Given the description of an element on the screen output the (x, y) to click on. 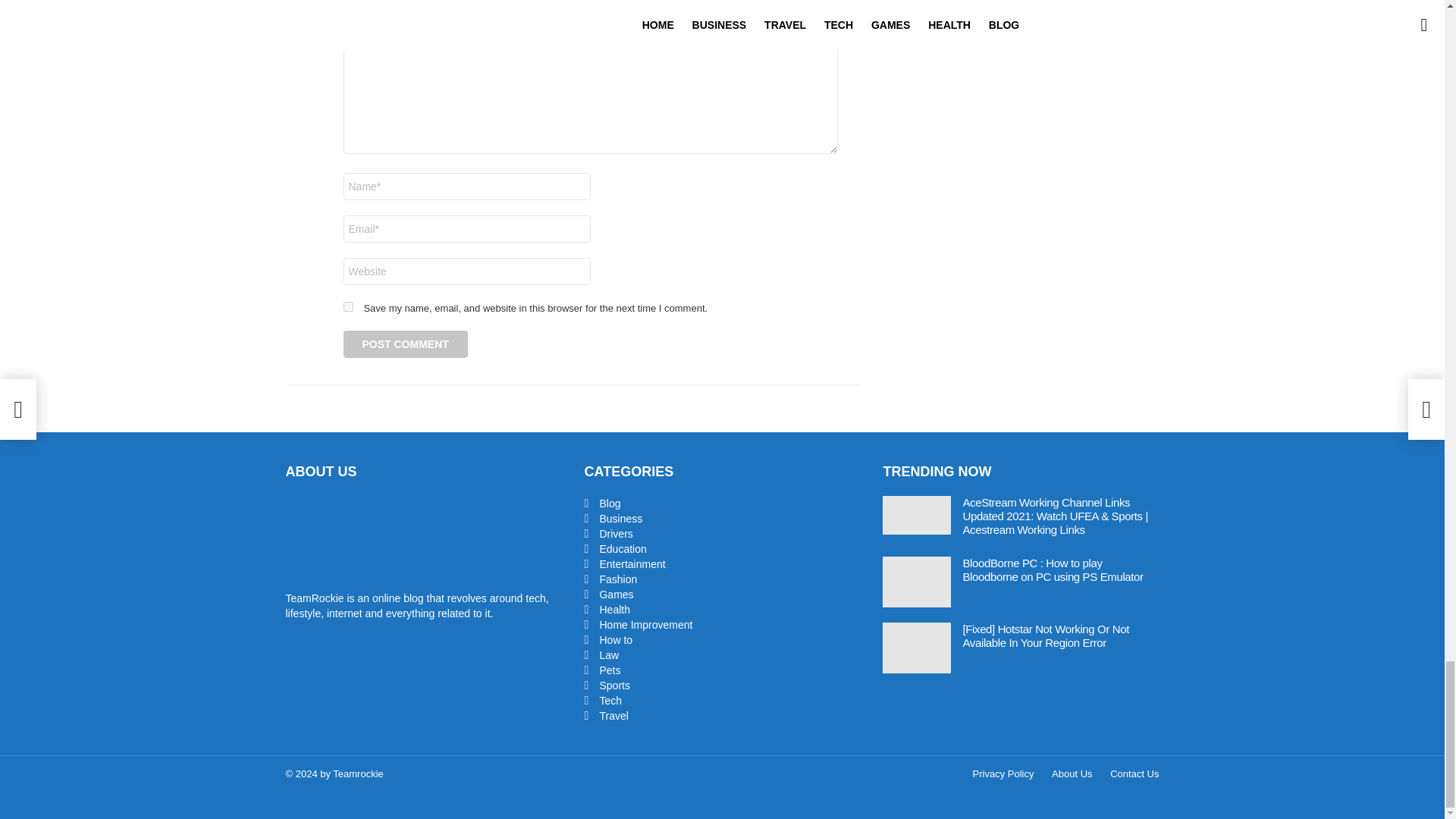
Post Comment (404, 343)
yes (347, 307)
